Given the description of an element on the screen output the (x, y) to click on. 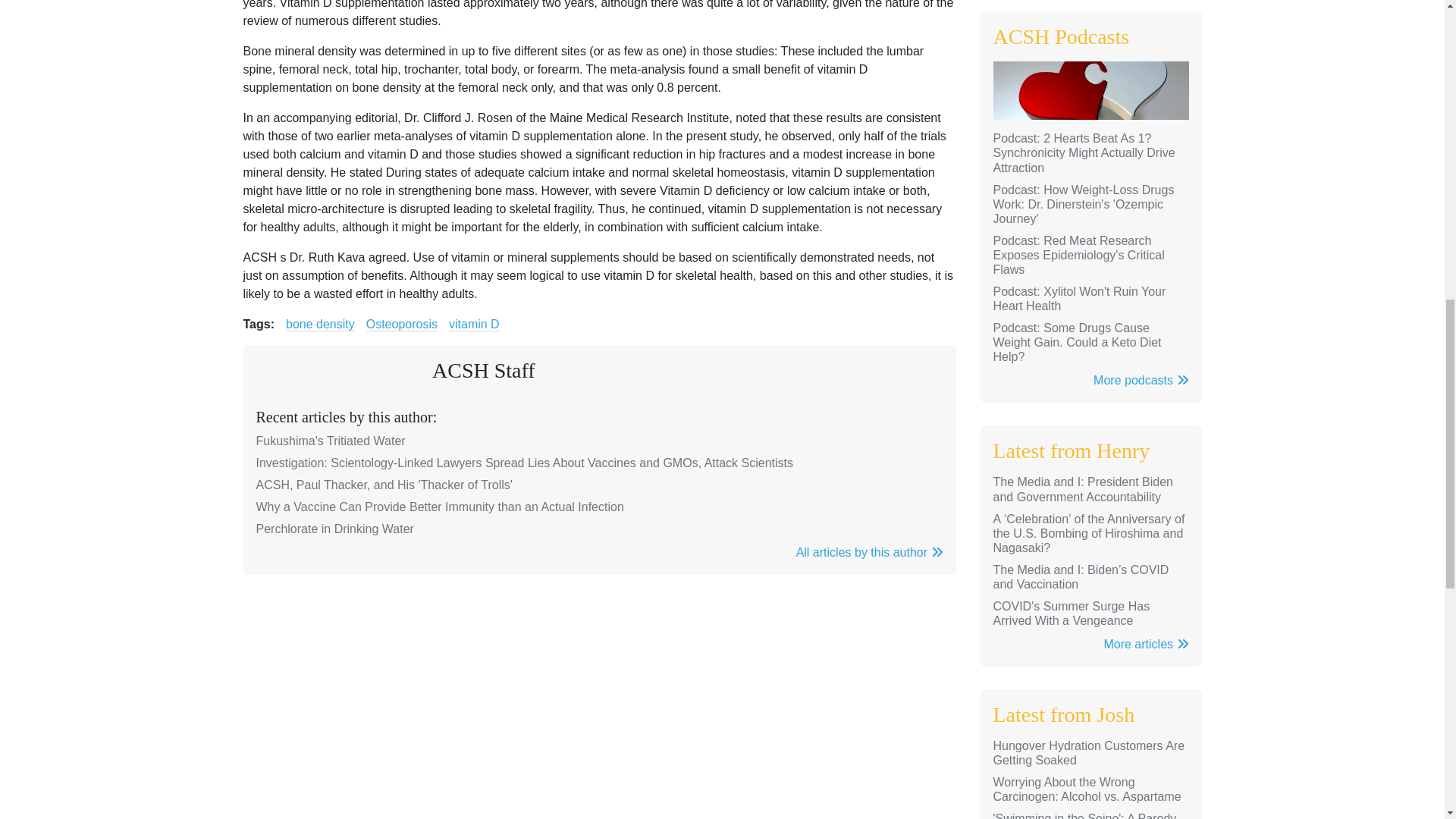
Osteoporosis (402, 324)
ACSH Staff (483, 370)
vitamin D (473, 324)
bone density (320, 324)
